Given the description of an element on the screen output the (x, y) to click on. 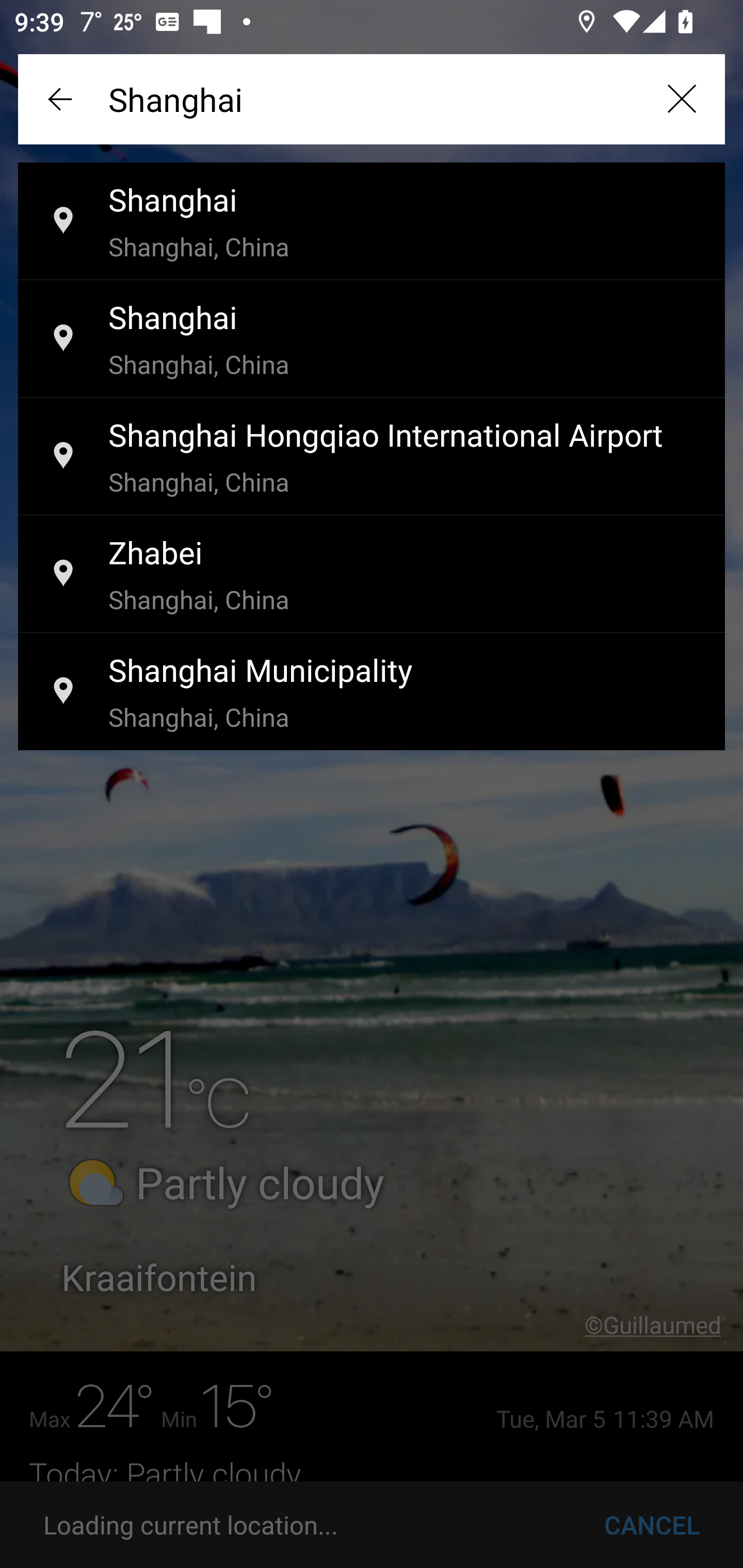
Shanghai (371, 99)
 (681, 99)
 (61, 99)
 Shanghai Shanghai, China (371, 221)
 Shanghai Shanghai, China (371, 339)
 Zhabei Shanghai, China (371, 574)
 Shanghai Municipality Shanghai, China (371, 692)
